Given the description of an element on the screen output the (x, y) to click on. 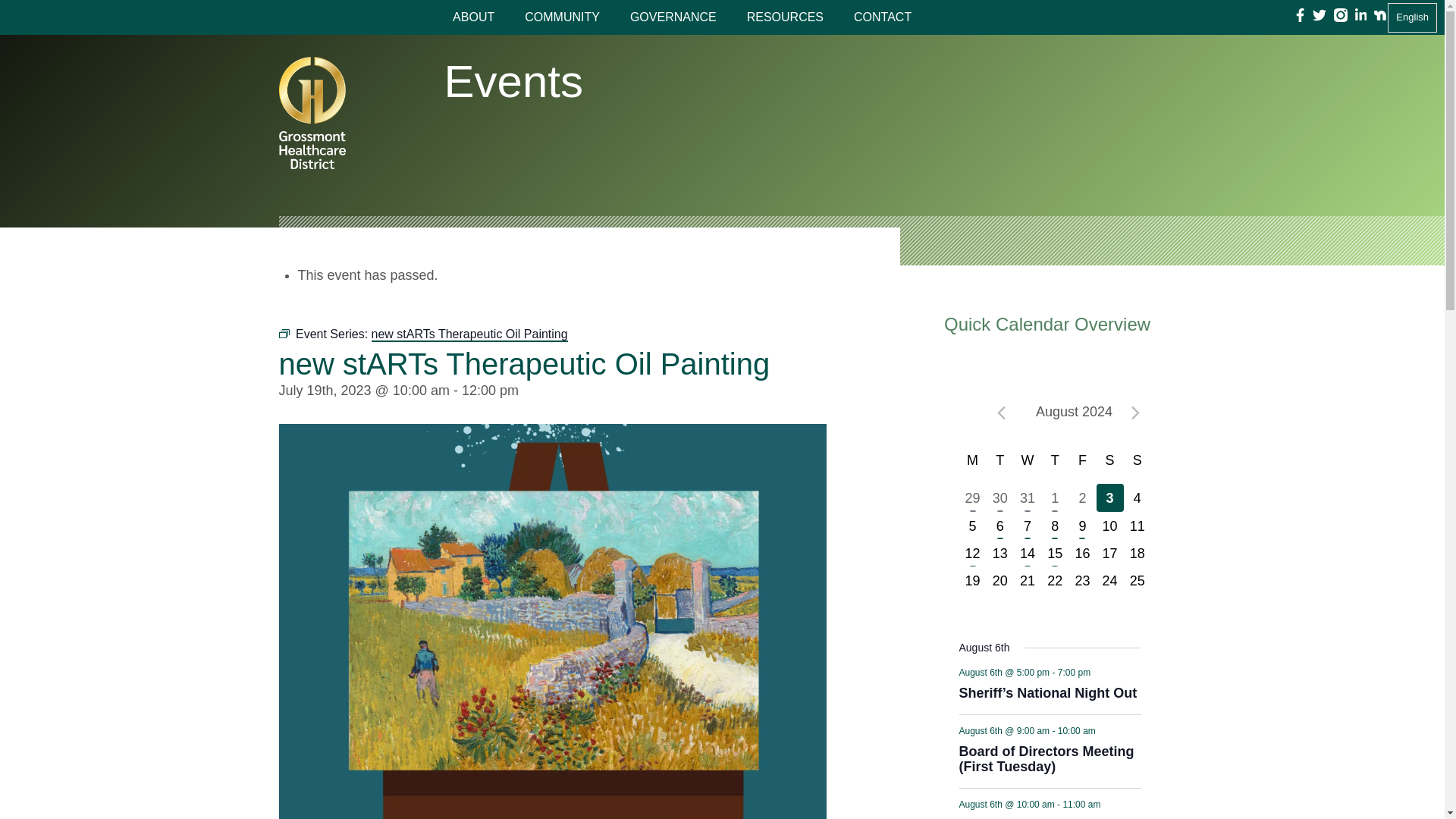
COMMUNITY (561, 17)
GOVERNANCE (673, 17)
RESOURCES (785, 17)
Event Series (284, 333)
CONTACT (882, 17)
ABOUT (473, 17)
Event Series (1102, 728)
